Given the description of an element on the screen output the (x, y) to click on. 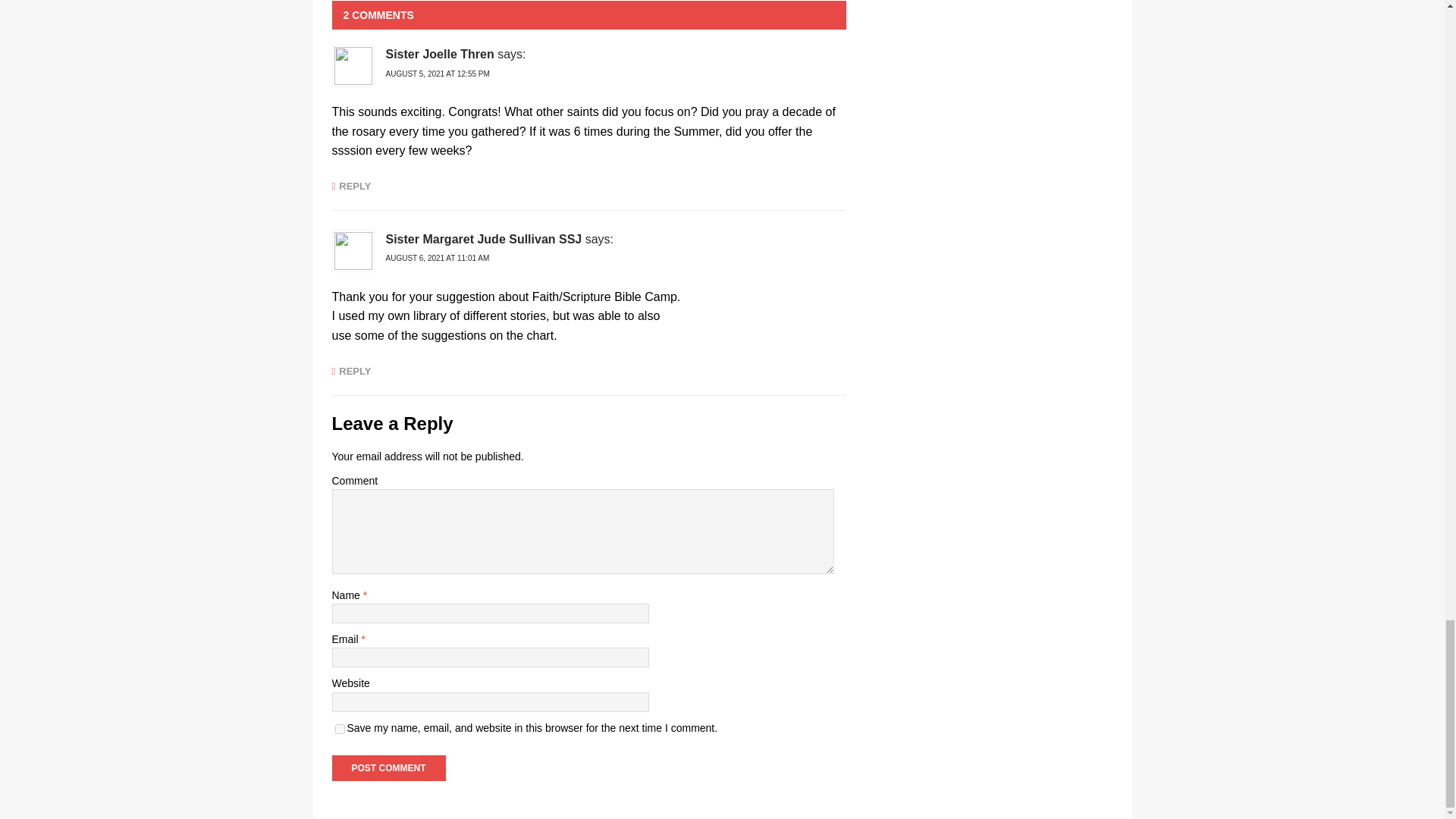
Post Comment (388, 768)
yes (339, 728)
